Given the description of an element on the screen output the (x, y) to click on. 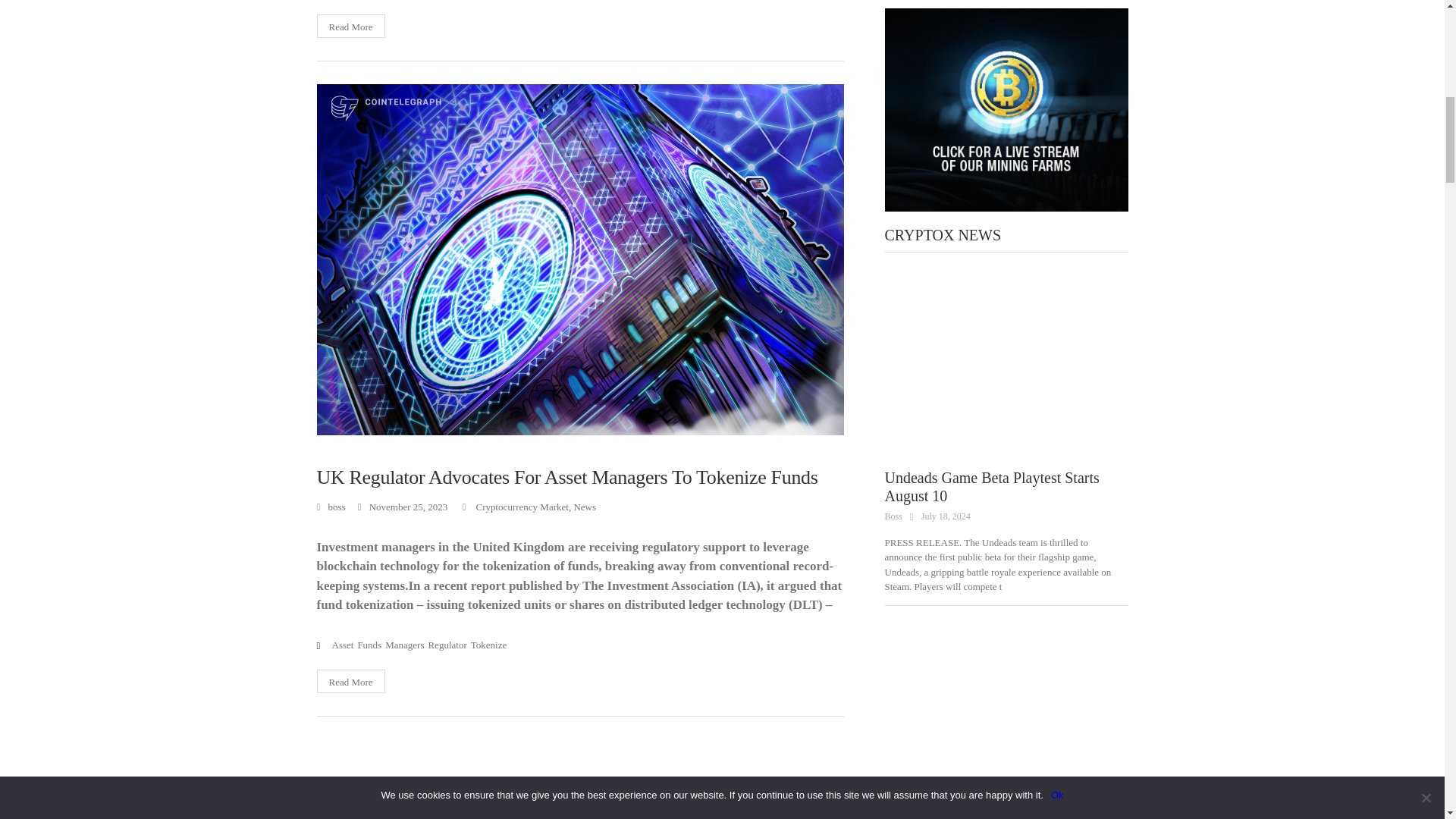
Undeads Game Beta Playtest Starts August 10 (1004, 373)
